Given the description of an element on the screen output the (x, y) to click on. 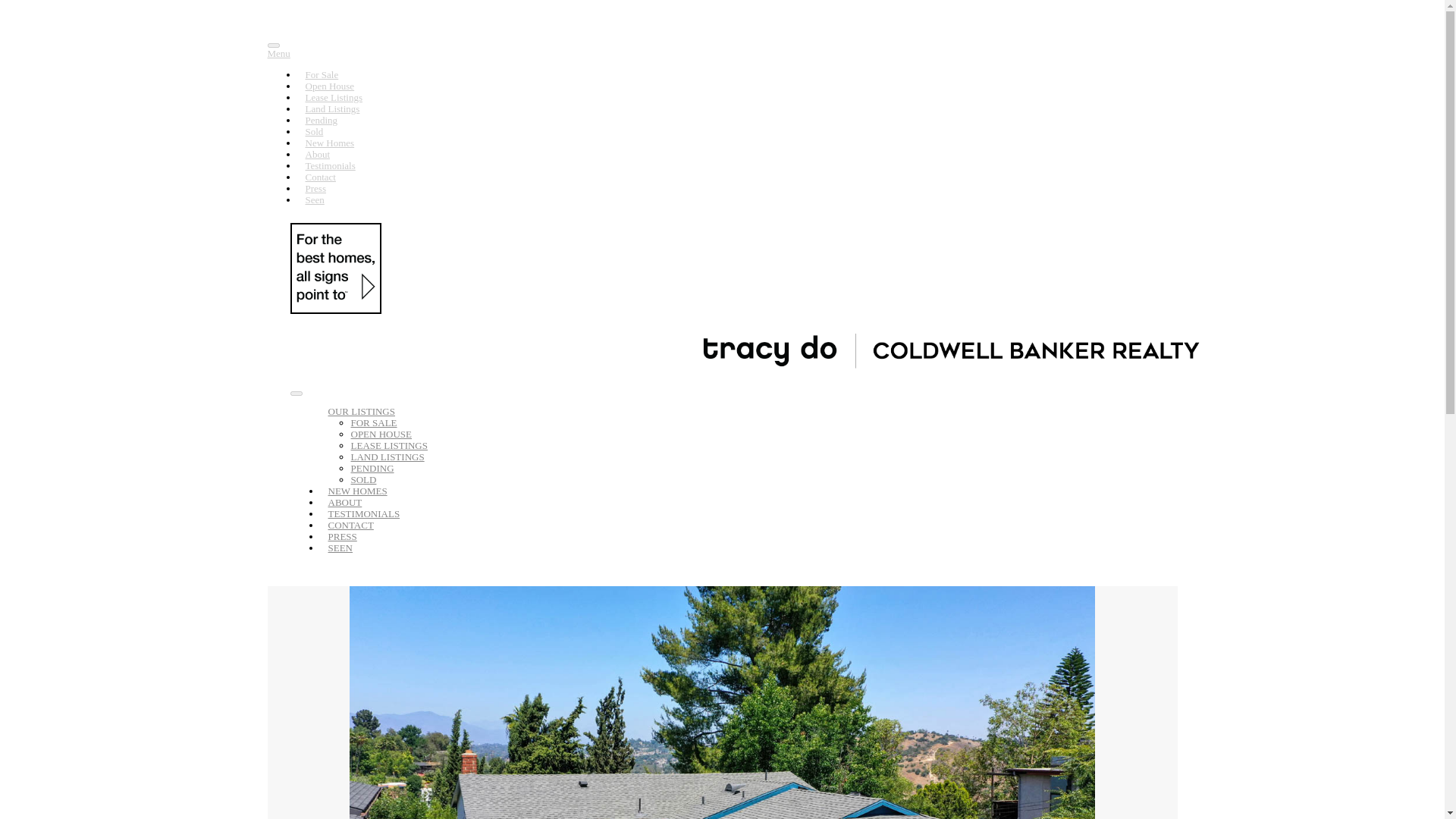
Pending (371, 468)
Menu (721, 52)
Open House (329, 85)
About (317, 153)
New Homes (357, 490)
New Homes (329, 142)
Press (315, 188)
LEASE LISTINGS (388, 445)
CONTACT (350, 524)
Pending (321, 120)
SOLD (362, 479)
Sold (362, 479)
ABOUT (344, 501)
Our Listings (360, 411)
Testimonials (329, 165)
